Given the description of an element on the screen output the (x, y) to click on. 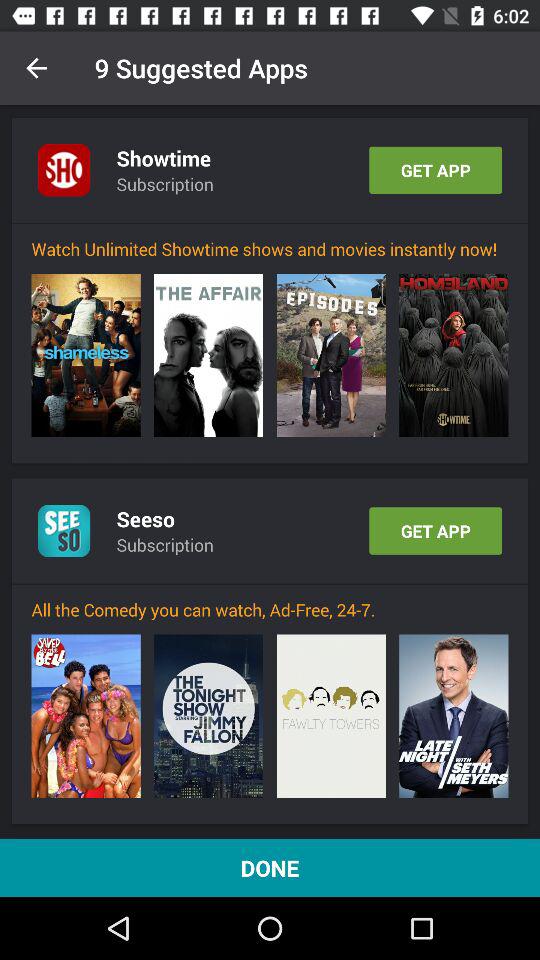
select the watch unlimited showtime icon (269, 248)
